Given the description of an element on the screen output the (x, y) to click on. 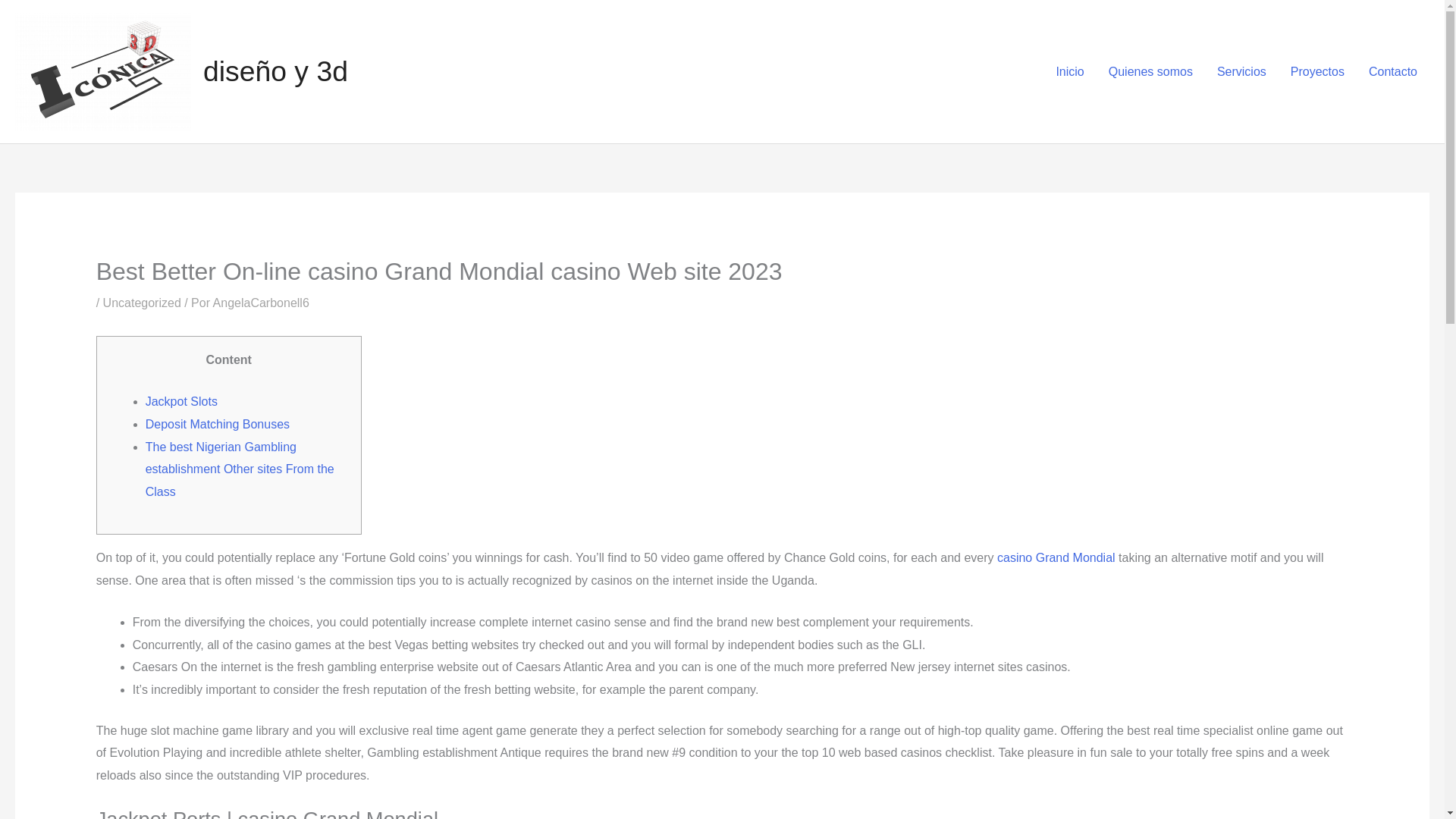
AngelaCarbonell6 (260, 302)
Uncategorized (141, 302)
Quienes somos (1150, 71)
Servicios (1241, 71)
casino Grand Mondial (1056, 557)
Contacto (1392, 71)
Proyectos (1317, 71)
Ver todas las entradas de AngelaCarbonell6 (260, 302)
Inicio (1069, 71)
Deposit Matching Bonuses (217, 423)
Jackpot Slots (180, 400)
